Given the description of an element on the screen output the (x, y) to click on. 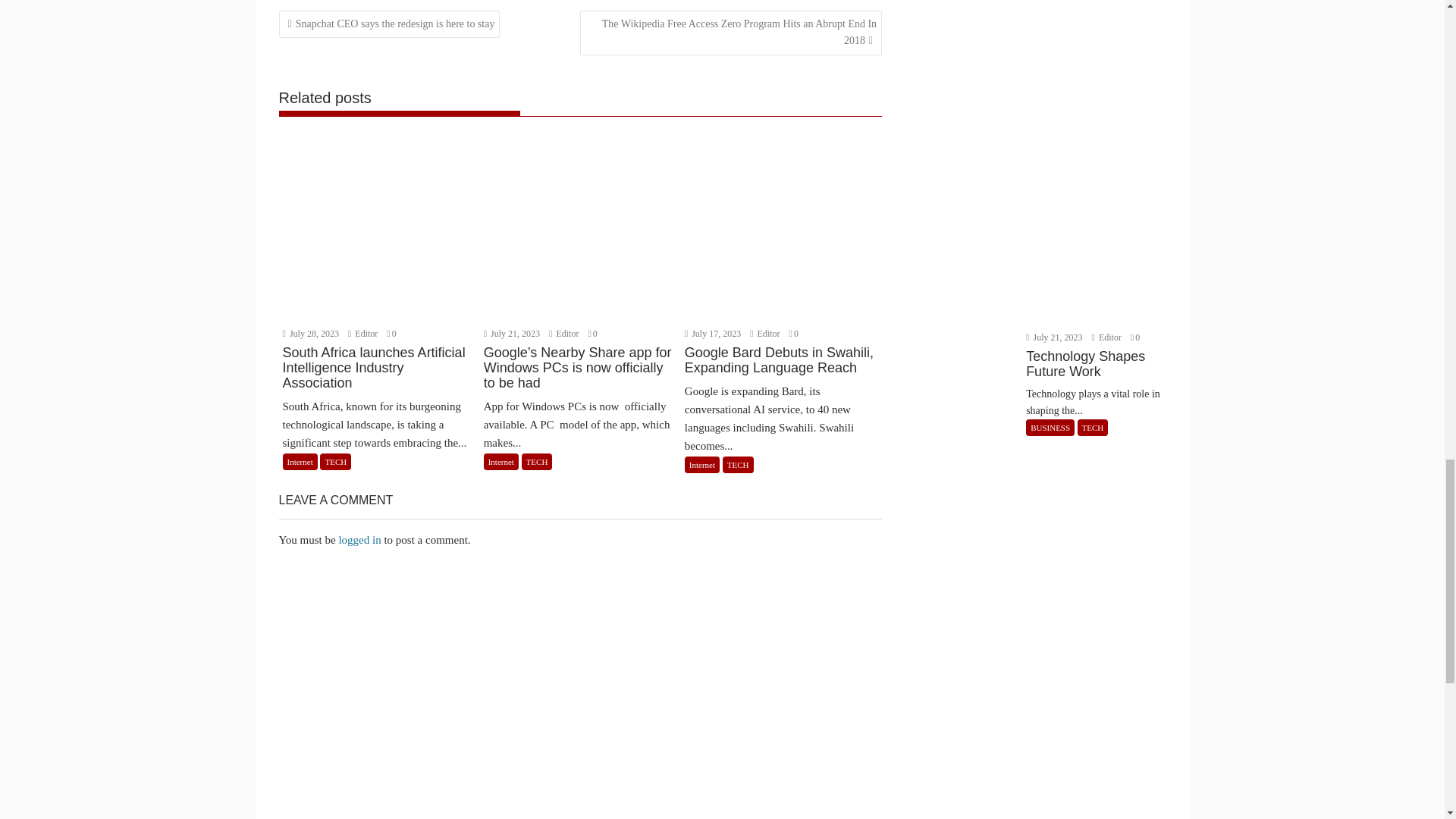
Editor (765, 333)
Editor (564, 333)
Editor (363, 333)
